Given the description of an element on the screen output the (x, y) to click on. 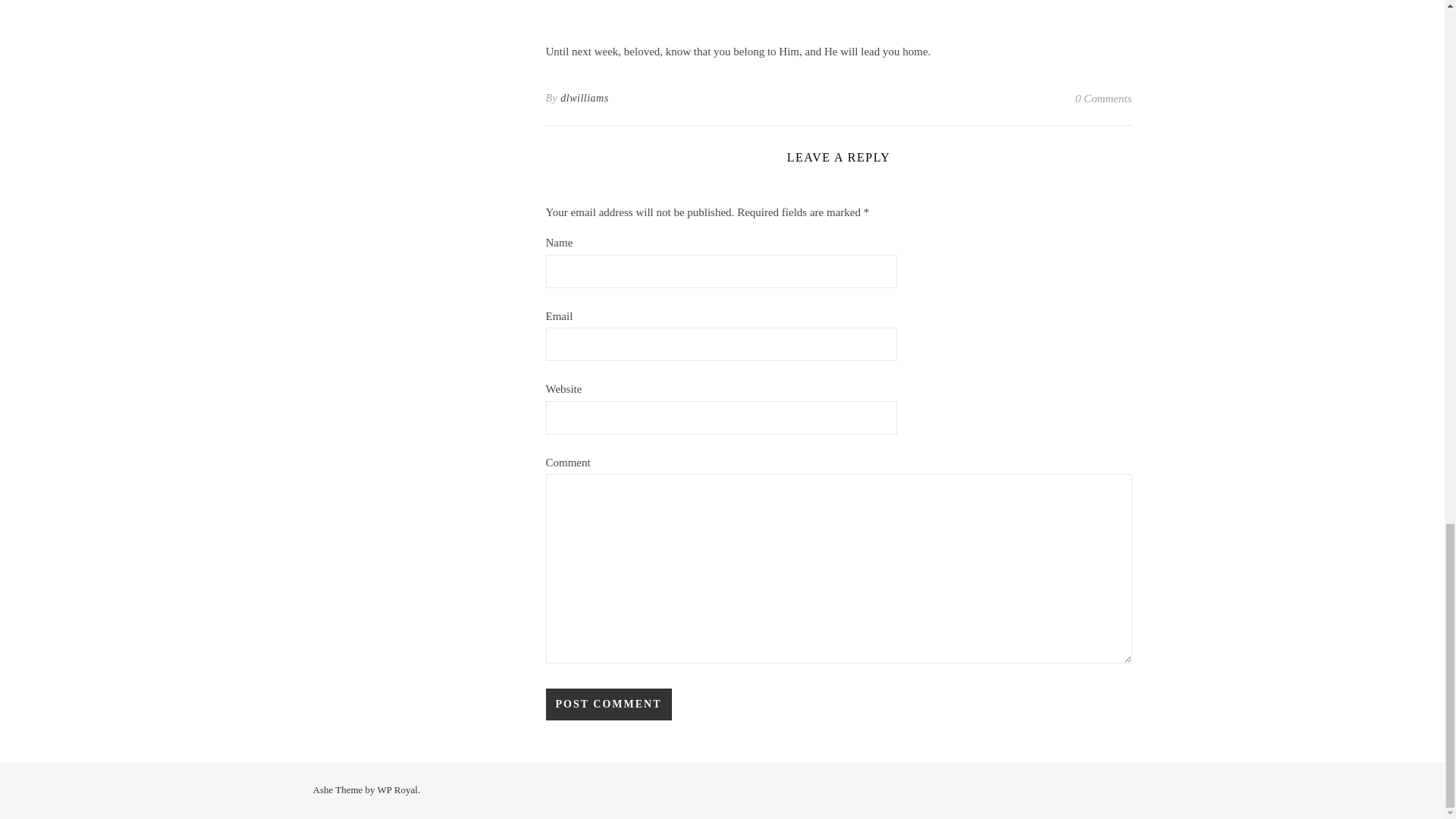
WP Royal (397, 789)
0 Comments (1103, 97)
dlwilliams (584, 97)
Post Comment (608, 704)
Post Comment (608, 704)
Posts by dlwilliams (584, 97)
